Given the description of an element on the screen output the (x, y) to click on. 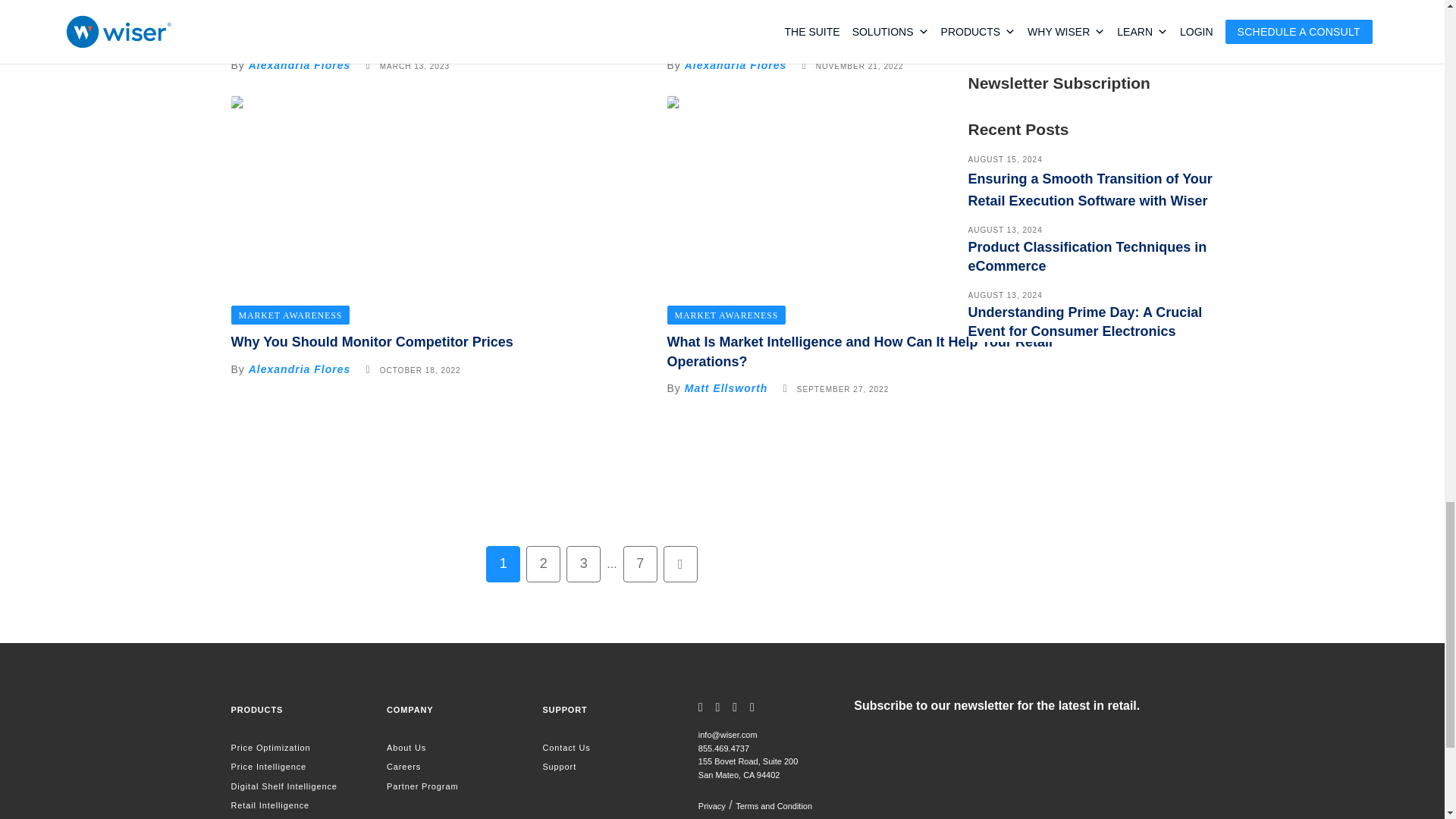
Posts by Alexandria Flores (299, 368)
Posts by Matt Ellsworth (726, 387)
Posts by Alexandria Flores (299, 64)
Posts by Alexandria Flores (735, 64)
